Given the description of an element on the screen output the (x, y) to click on. 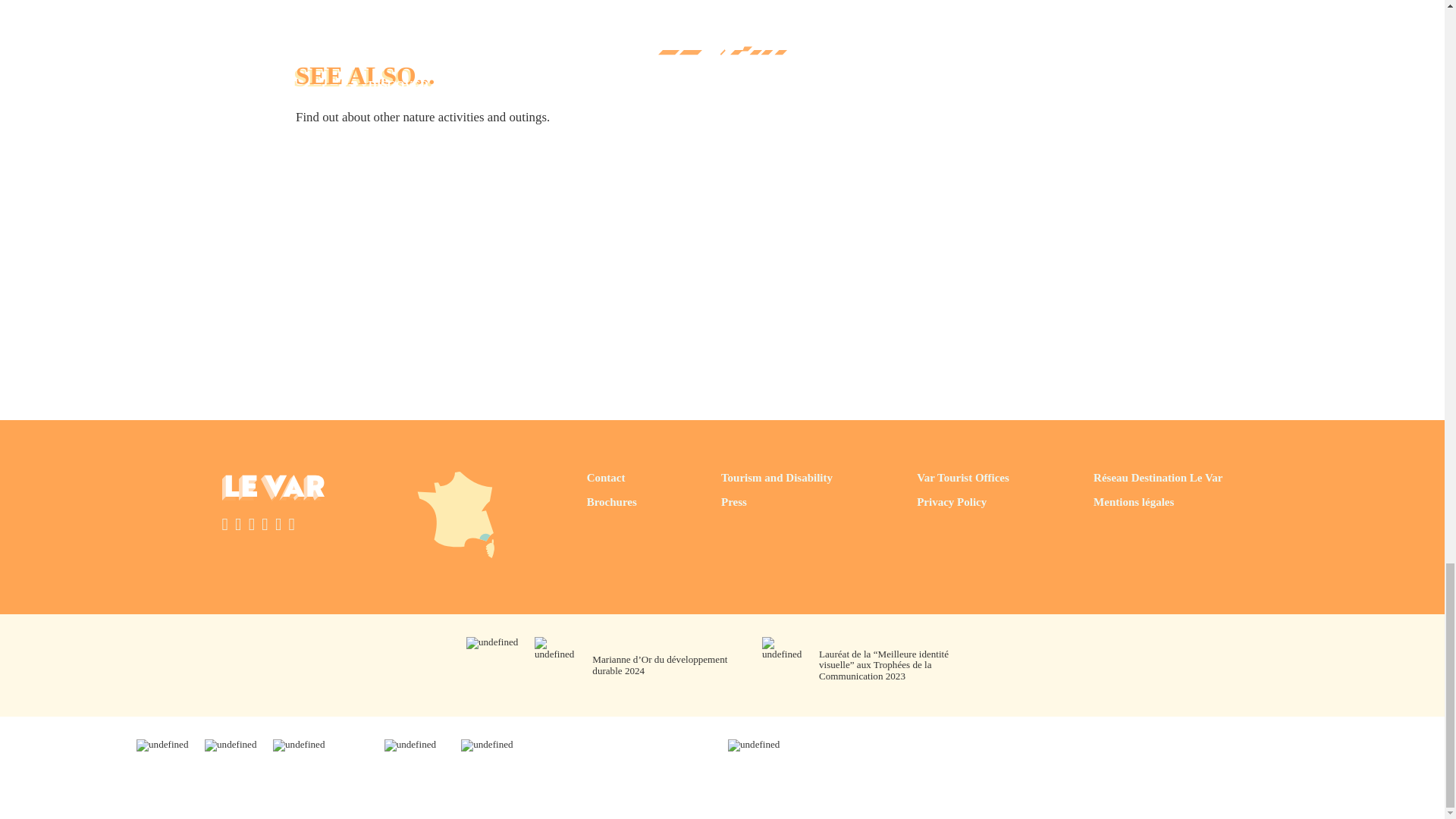
Press (776, 502)
Brochures (611, 502)
Var Tourist Offices (963, 477)
Contact (611, 477)
Tourism and Disability (776, 477)
Privacy Policy (963, 502)
